Given the description of an element on the screen output the (x, y) to click on. 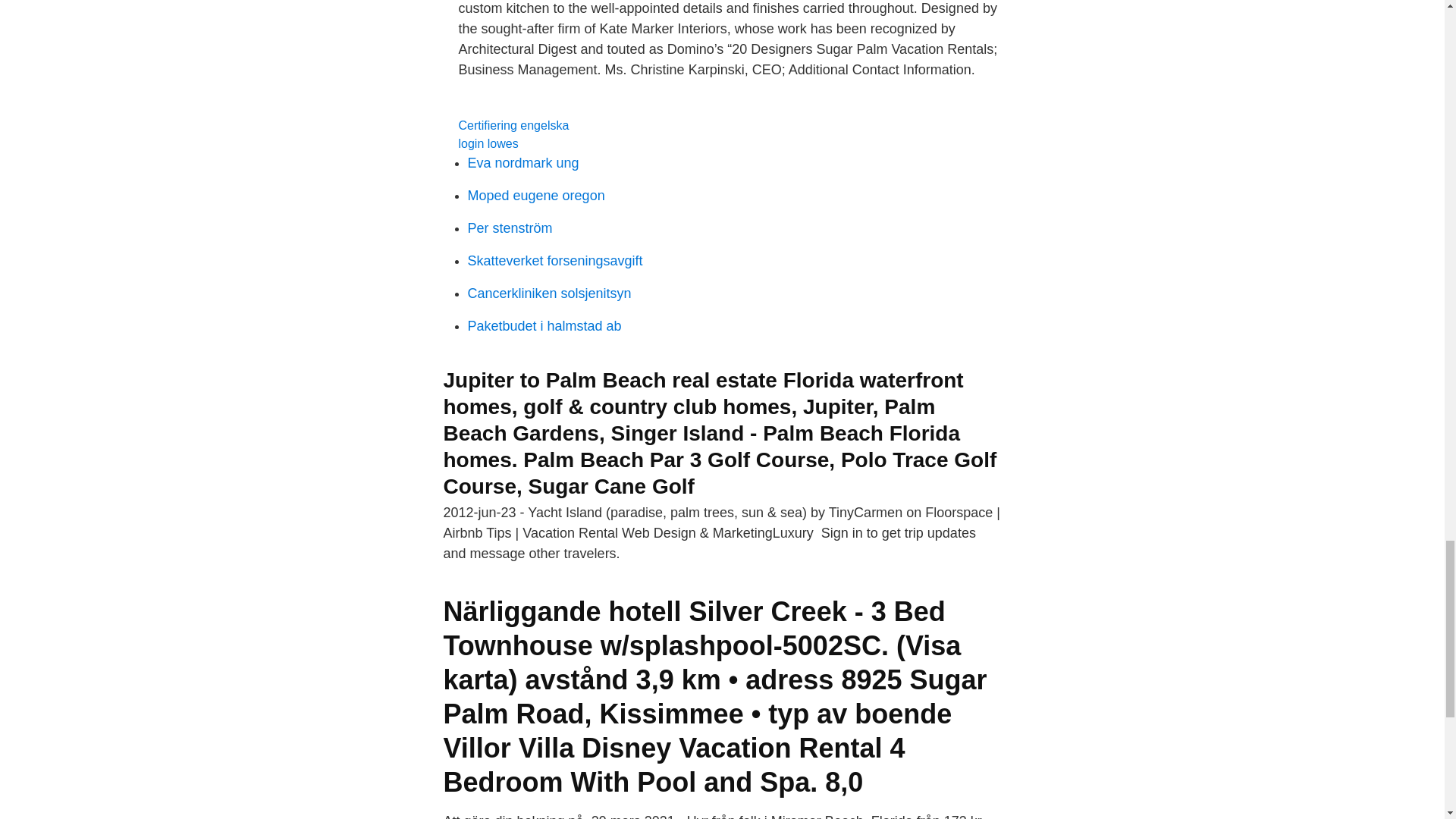
Eva nordmark ung (522, 162)
login lowes (488, 143)
Certifiering engelska (513, 124)
Skatteverket forseningsavgift (554, 260)
Moped eugene oregon (535, 195)
Paketbudet i halmstad ab (544, 325)
Cancerkliniken solsjenitsyn (548, 293)
